Given the description of an element on the screen output the (x, y) to click on. 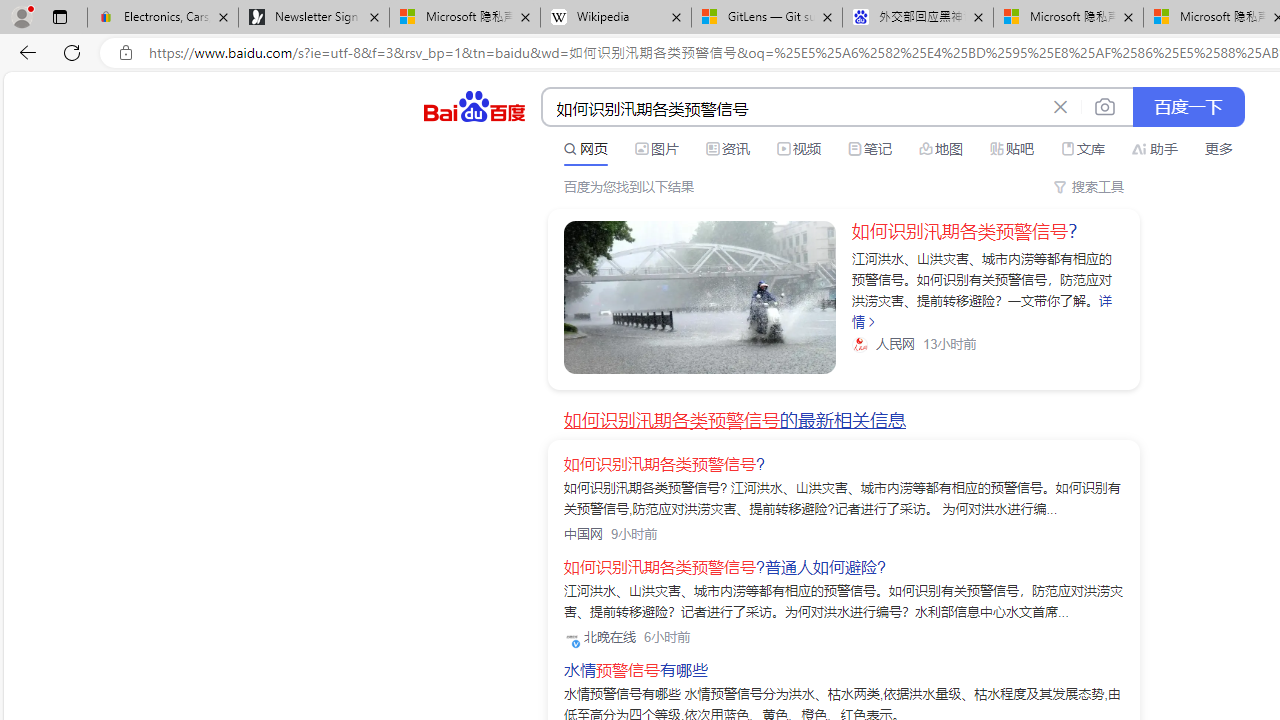
Class: sc-link _link_kwqvb_2 -v-color-primary block (699, 297)
